Given the description of an element on the screen output the (x, y) to click on. 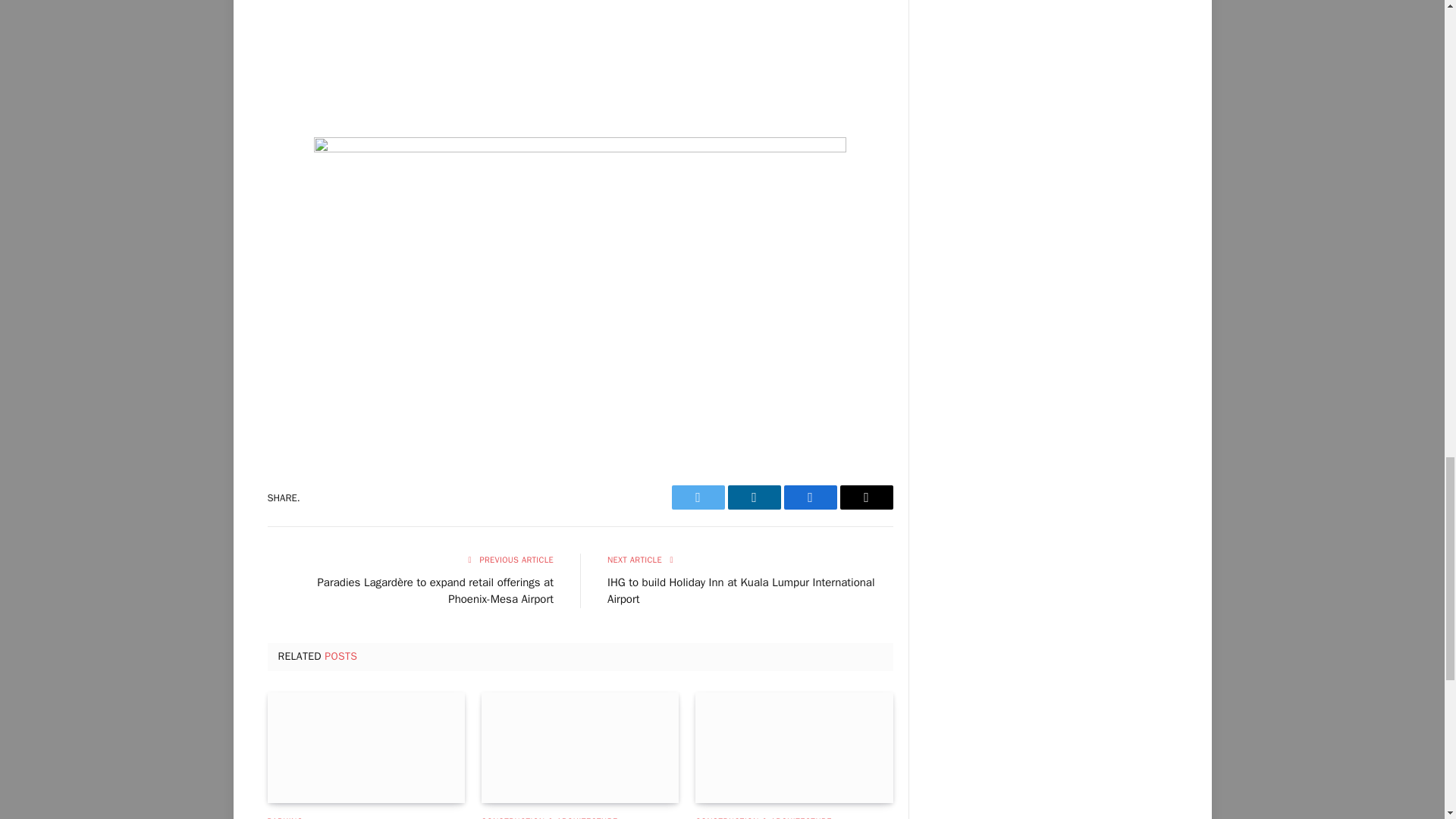
Share on LinkedIn (754, 497)
San Diego Airport opens Terminal 1 Parking Plaza (365, 747)
Share via Email (866, 497)
Share on Facebook (810, 497)
